Given the description of an element on the screen output the (x, y) to click on. 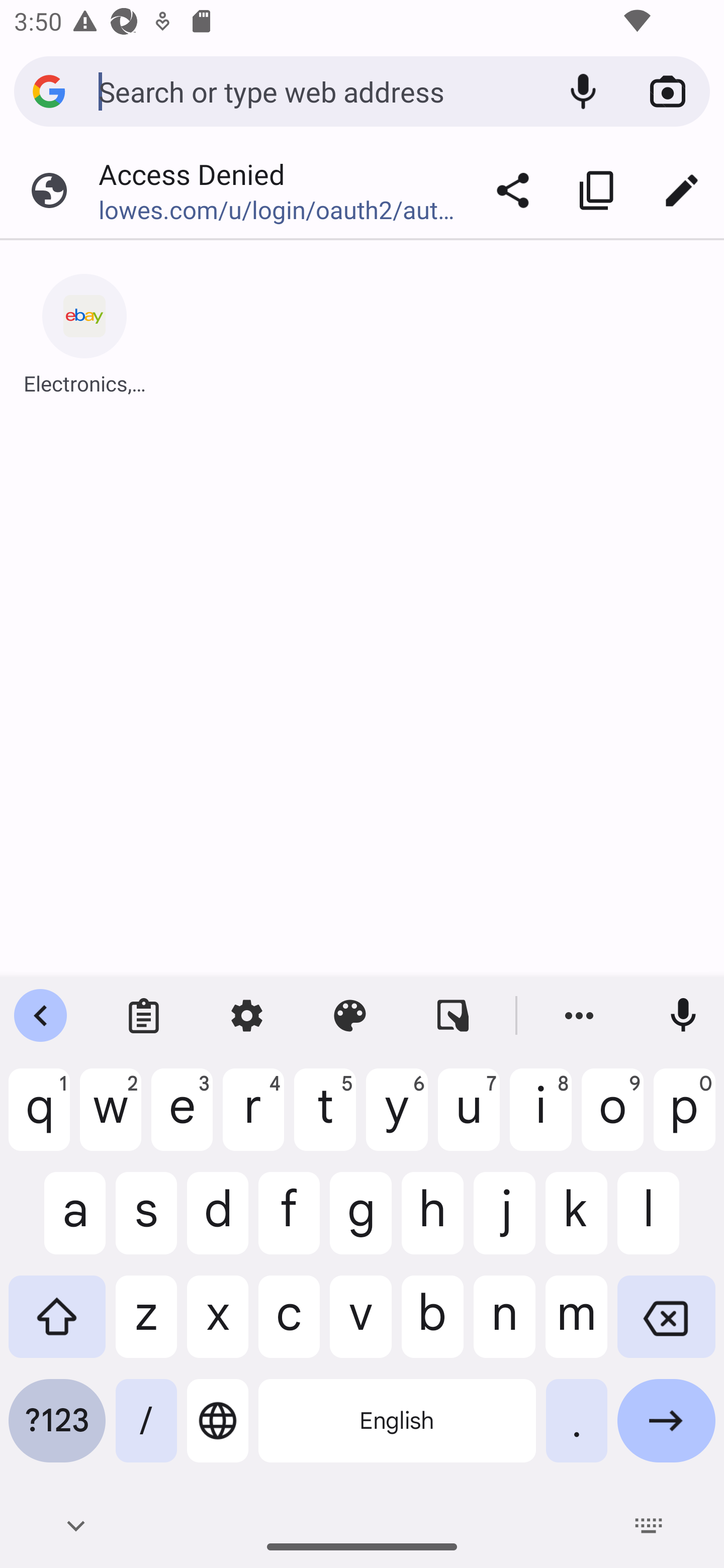
Start voice search (582, 91)
Search with your camera using Google Lens (667, 91)
Search or type web address (319, 90)
Share… (512, 190)
Copy link (597, 190)
Edit (681, 190)
